Given the description of an element on the screen output the (x, y) to click on. 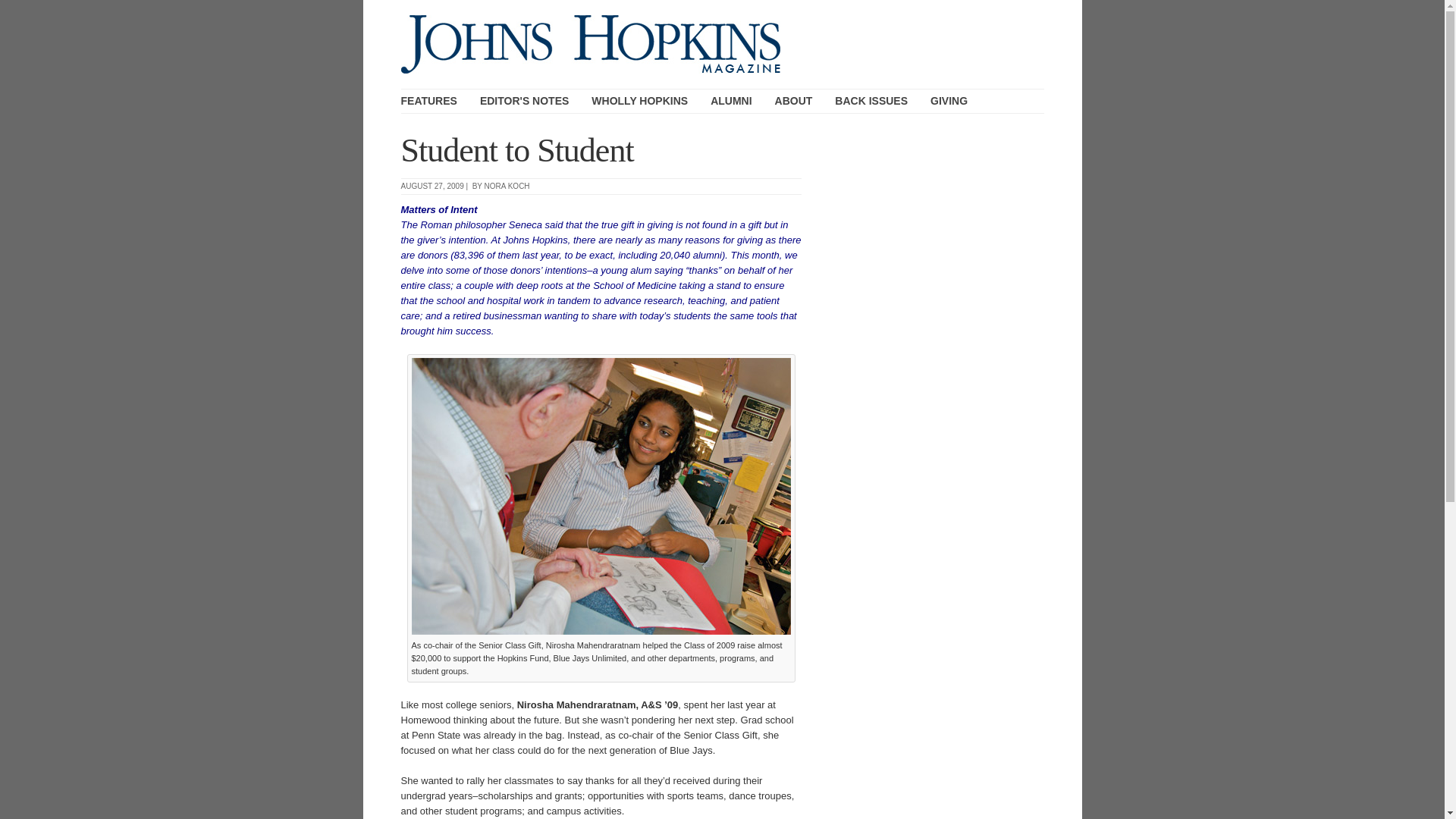
GIVING (949, 101)
EDITOR'S NOTES (524, 101)
ABOUT (793, 101)
Permanent Link to Student to Student (516, 149)
BACK ISSUES (870, 101)
WHOLLY HOPKINS (639, 101)
Student to Student (516, 149)
FEATURES (428, 101)
mahendraratnam (600, 495)
ALUMNI (730, 101)
